Given the description of an element on the screen output the (x, y) to click on. 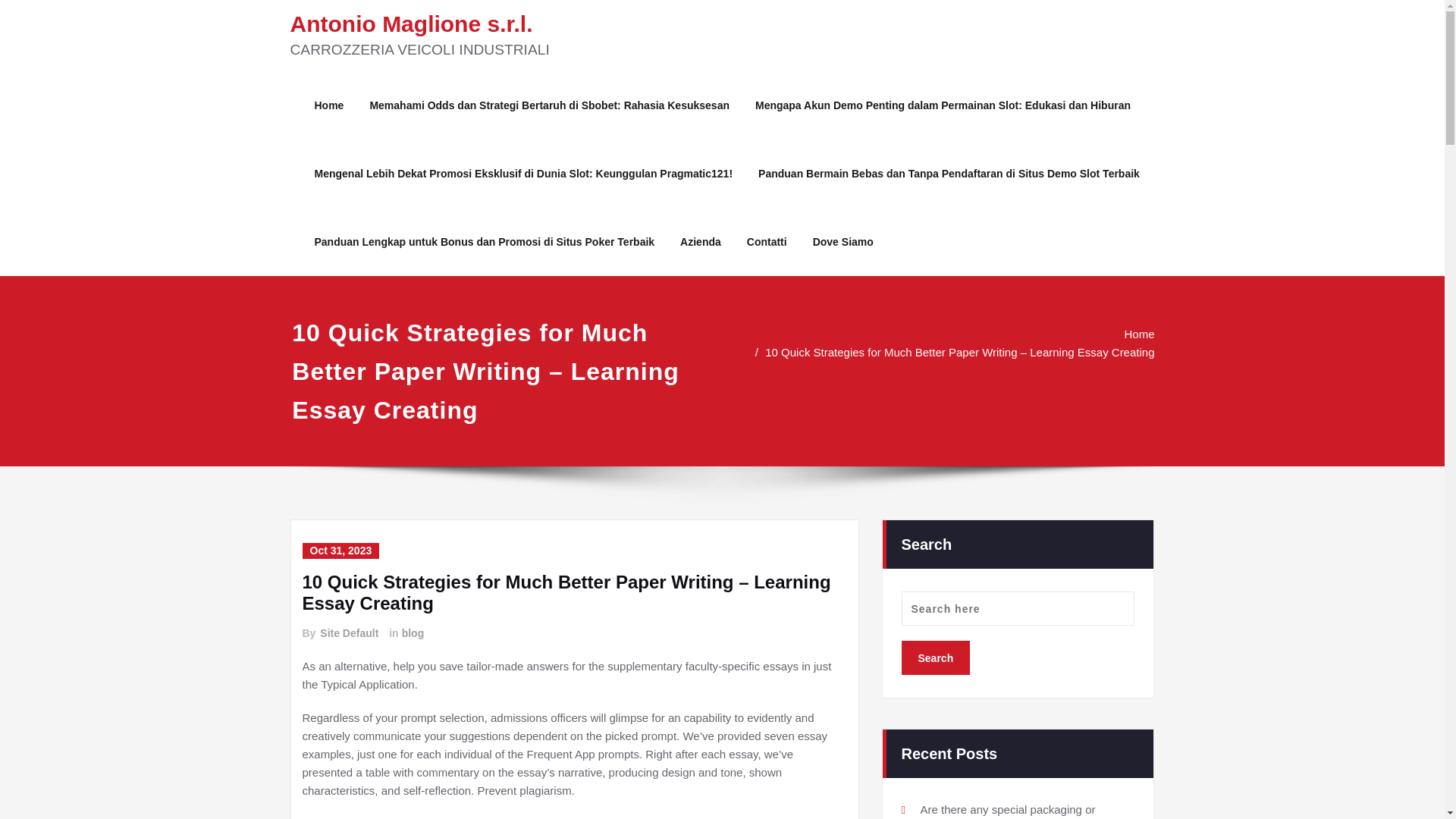
Site Default (348, 633)
Contatti (766, 242)
Home (1232, 333)
Search (935, 657)
Search (935, 657)
Dove Siamo (842, 242)
Oct 31, 2023 (339, 550)
